Given the description of an element on the screen output the (x, y) to click on. 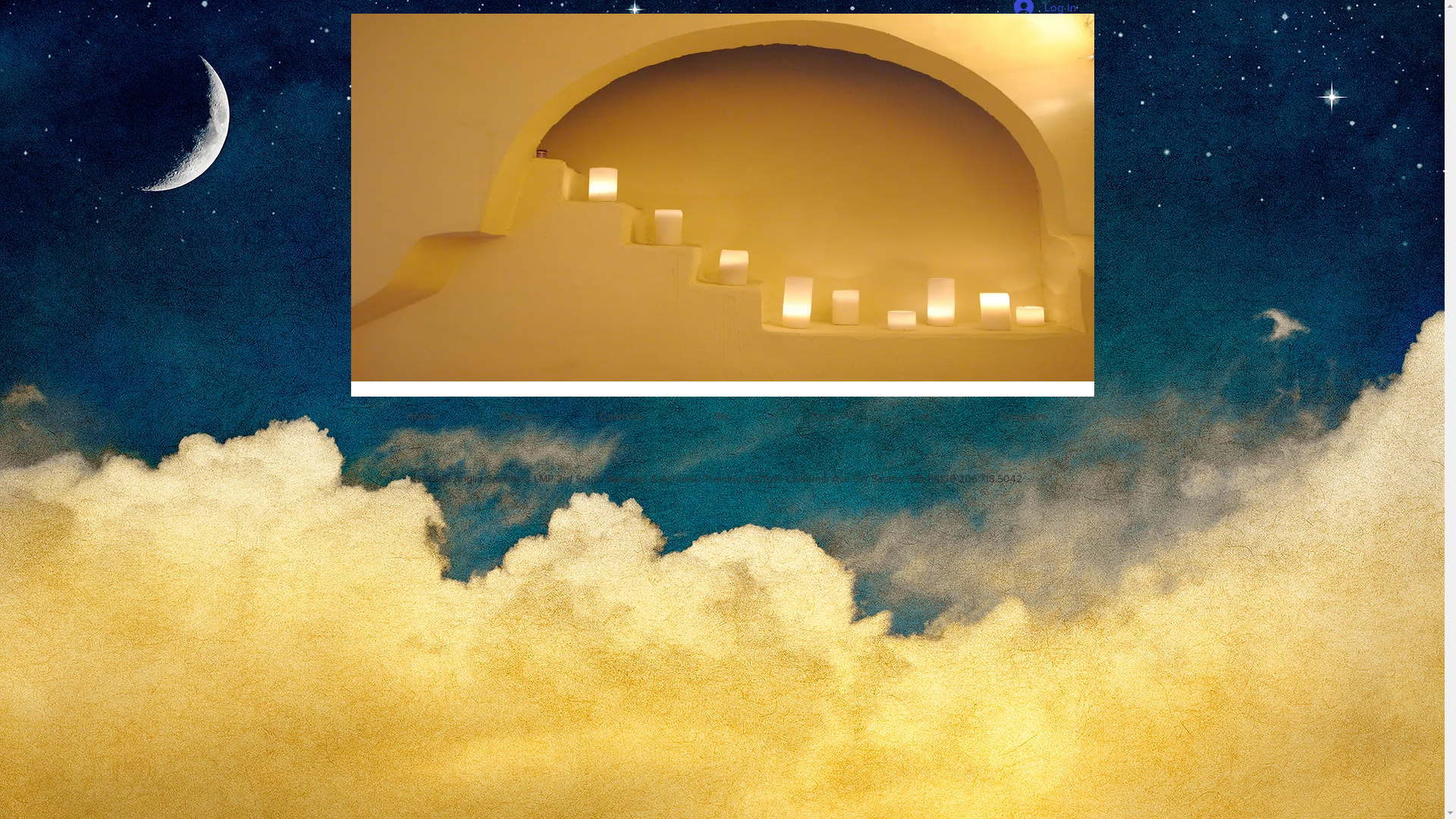
Info Element type: text (924, 415)
Store Element type: text (824, 415)
Services Element type: text (520, 415)
Home Element type: text (420, 415)
Directions Element type: text (1024, 415)
candle wall Element type: hover (721, 197)
Calendar Element type: text (622, 415)
Bio Element type: text (722, 415)
